Given the description of an element on the screen output the (x, y) to click on. 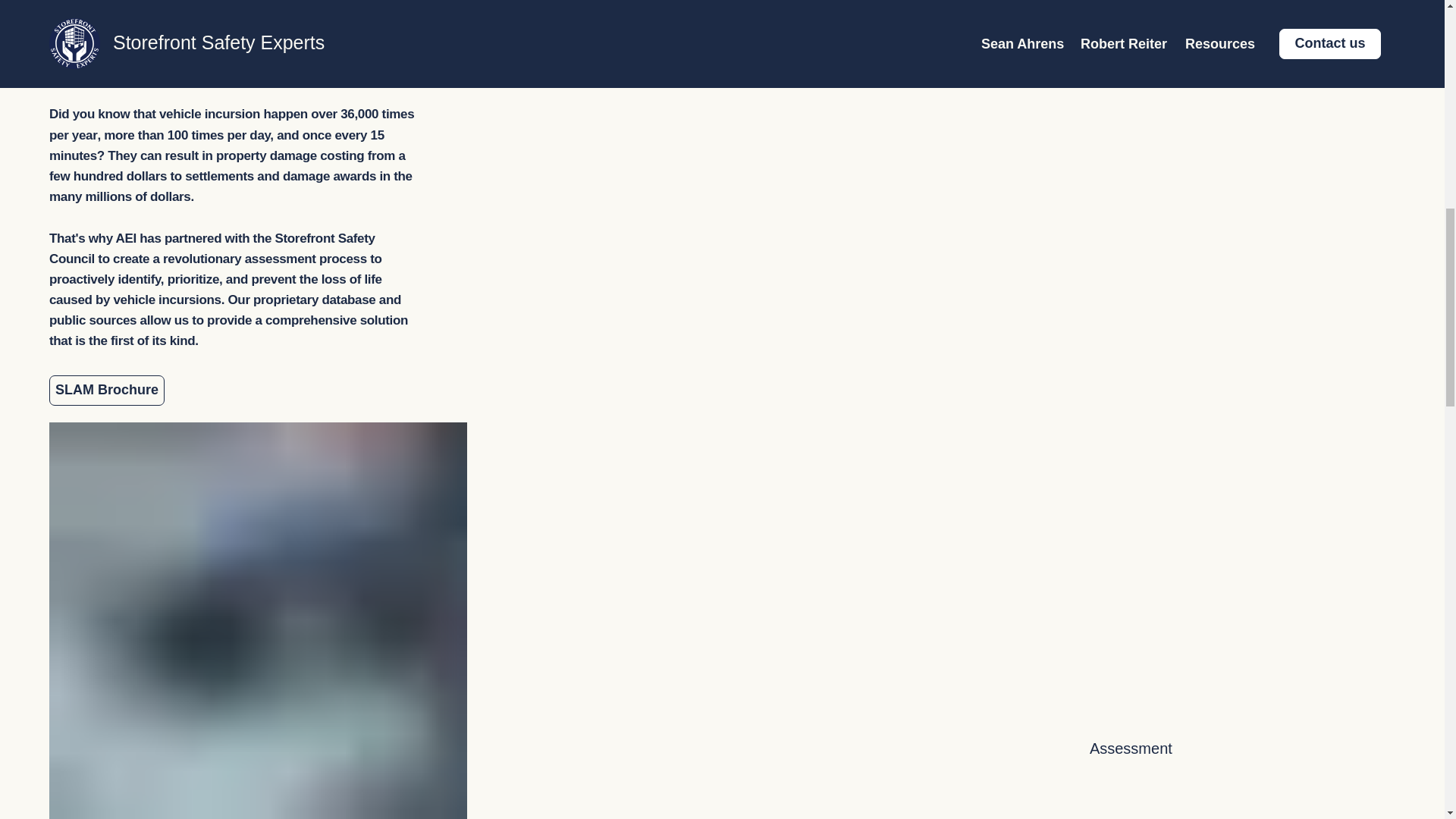
SLAM Brochure (106, 390)
